Given the description of an element on the screen output the (x, y) to click on. 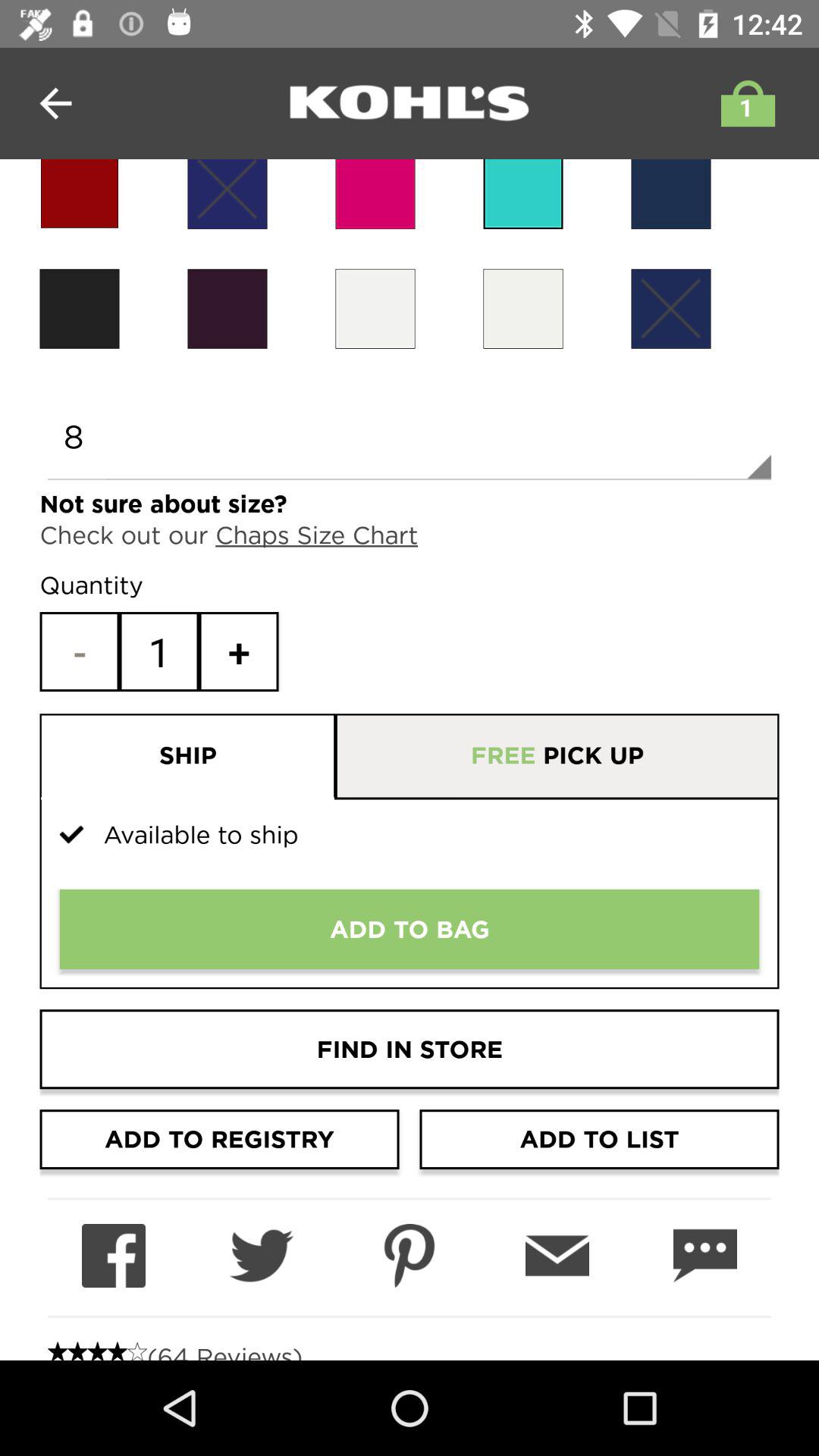
view shopping cart (744, 103)
